Given the description of an element on the screen output the (x, y) to click on. 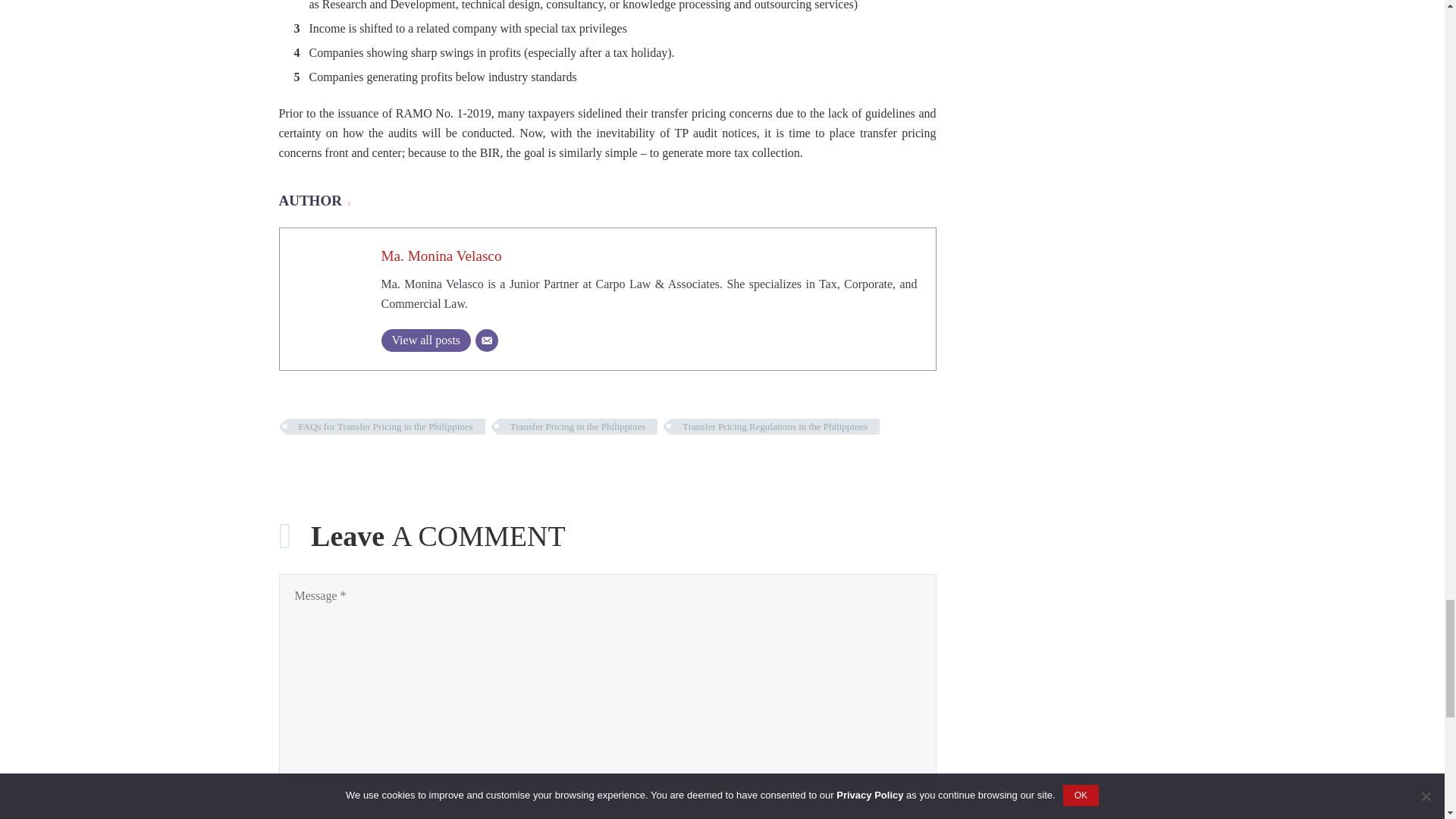
Ma. Monina Velasco (440, 255)
Ma. Monina Velasco (440, 255)
View all posts (425, 340)
FAQs for Transfer Pricing in the Philippines (385, 426)
Transfer Pricing Regulations in the Philippines (774, 426)
Transfer Pricing in the Philippines (577, 426)
